Given the description of an element on the screen output the (x, y) to click on. 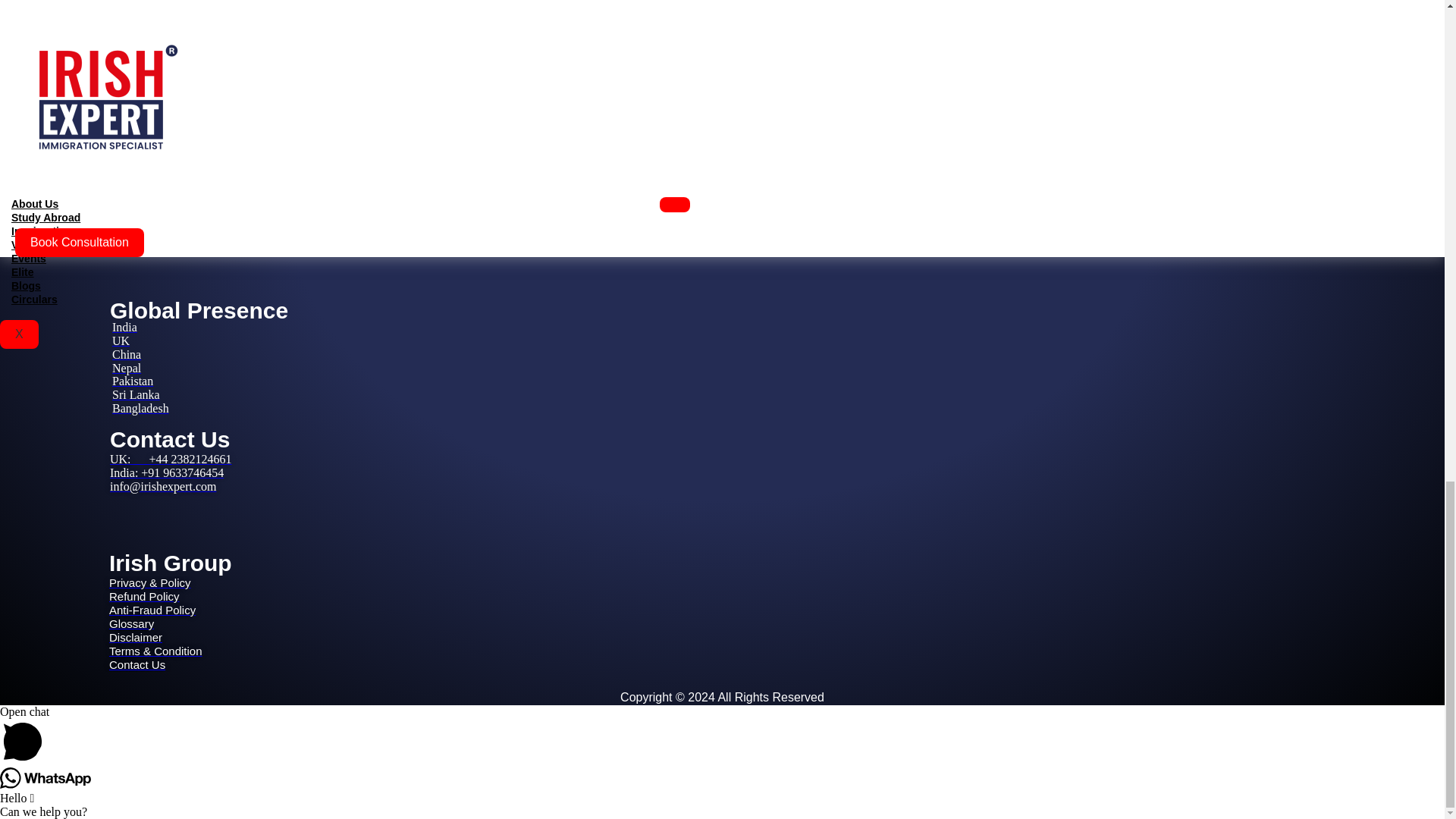
Hyderabad (103, 174)
Mumbai (97, 133)
Pakistan (132, 380)
Kochi (91, 190)
Delhi (90, 119)
Thrissur MG (108, 204)
Nepal (126, 367)
Kottayam (100, 231)
UK (120, 340)
Bangladesh (140, 408)
